Given the description of an element on the screen output the (x, y) to click on. 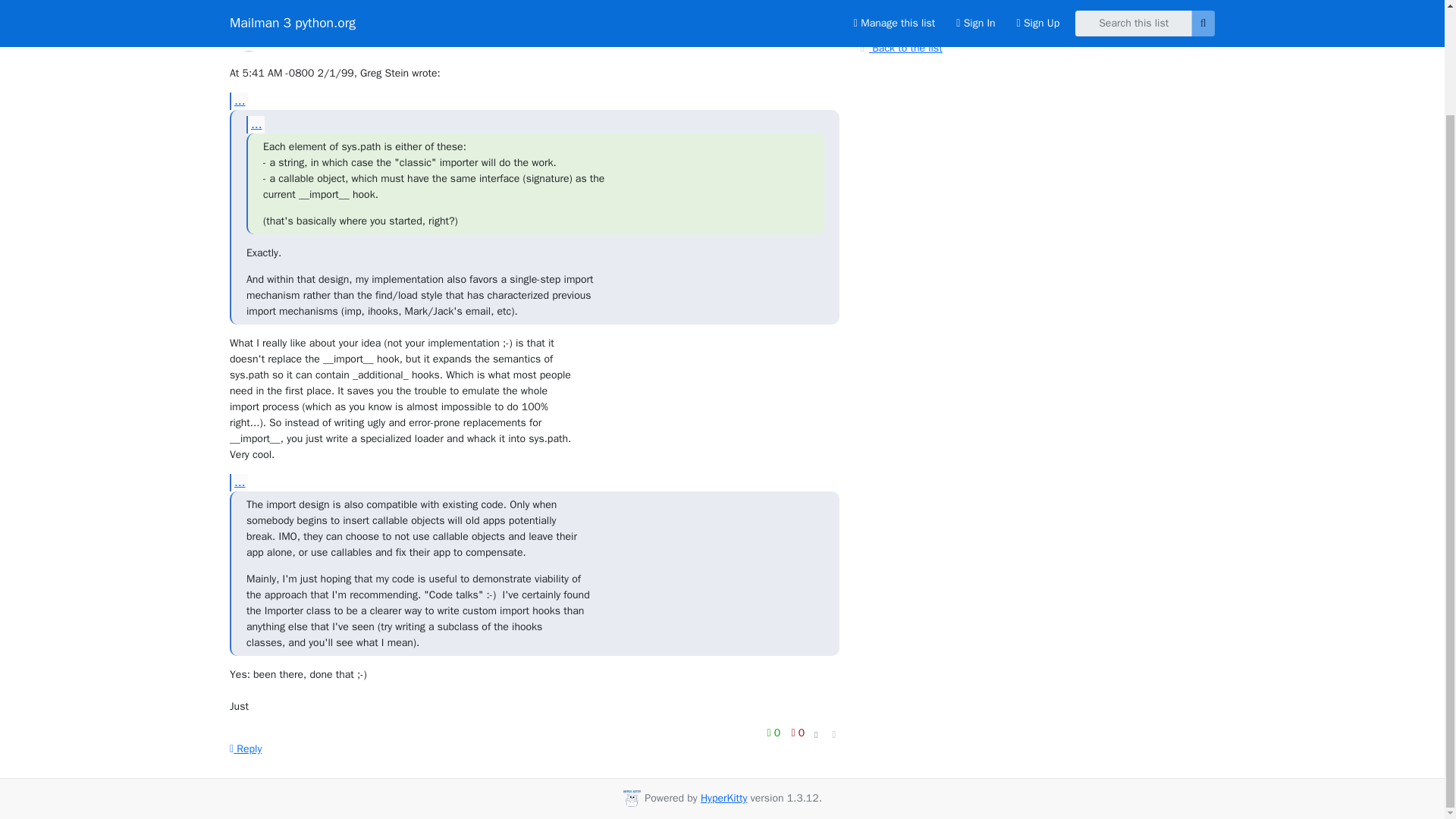
... (238, 100)
Sender's time: Feb. 1, 1999, 3:41 p.m. (816, 21)
Just van Rossum (322, 30)
Back to the list (899, 47)
You must be logged-in to vote. (774, 732)
... (255, 124)
Reply (246, 748)
0 (774, 732)
Reply (246, 748)
HyperKitty (724, 797)
Back to the thread (907, 21)
See the profile for Just van Rossum (322, 30)
... (238, 482)
You must be logged-in to vote. (797, 732)
0 (797, 732)
